Given the description of an element on the screen output the (x, y) to click on. 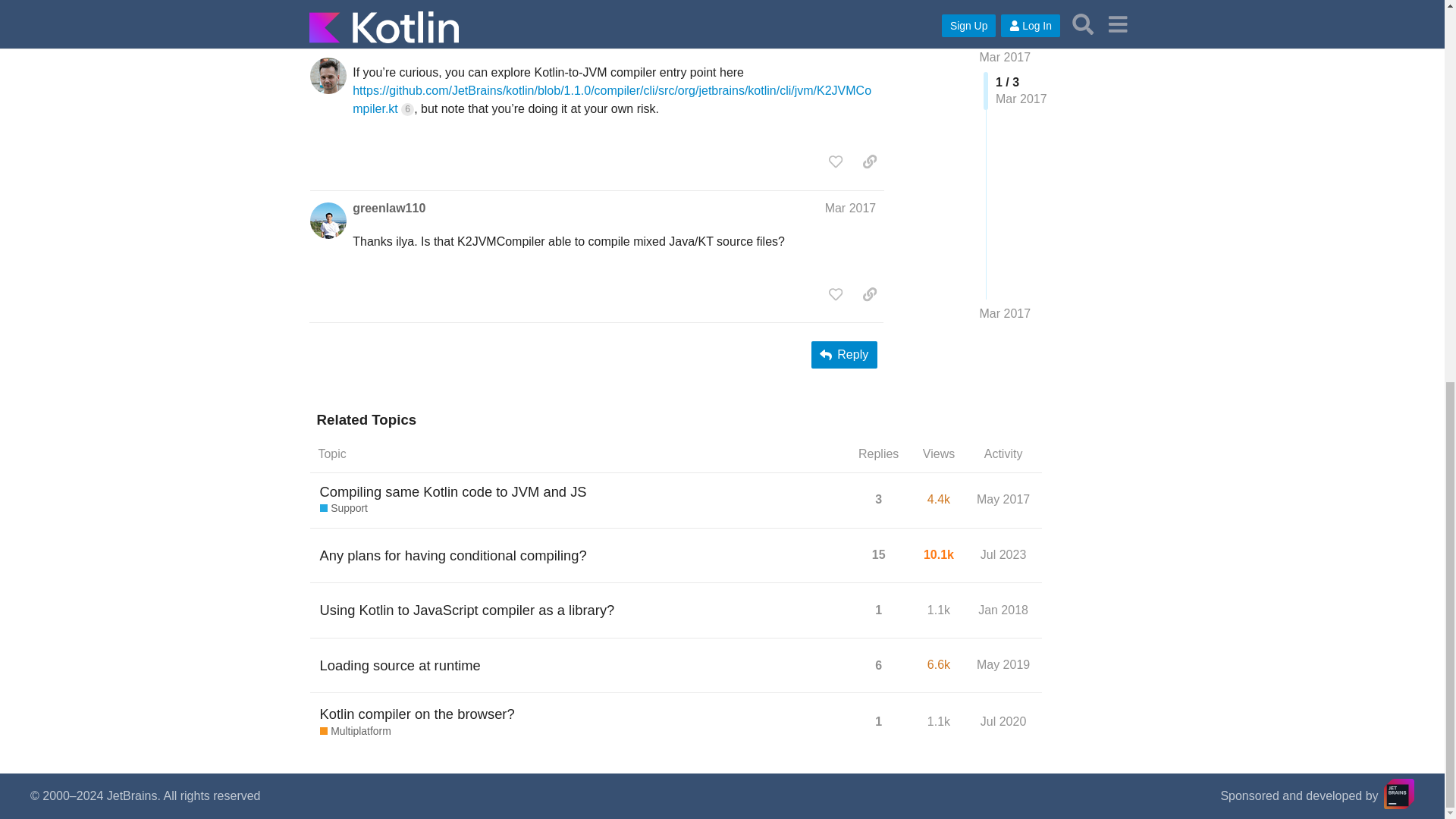
greenlaw110 (388, 208)
